Given the description of an element on the screen output the (x, y) to click on. 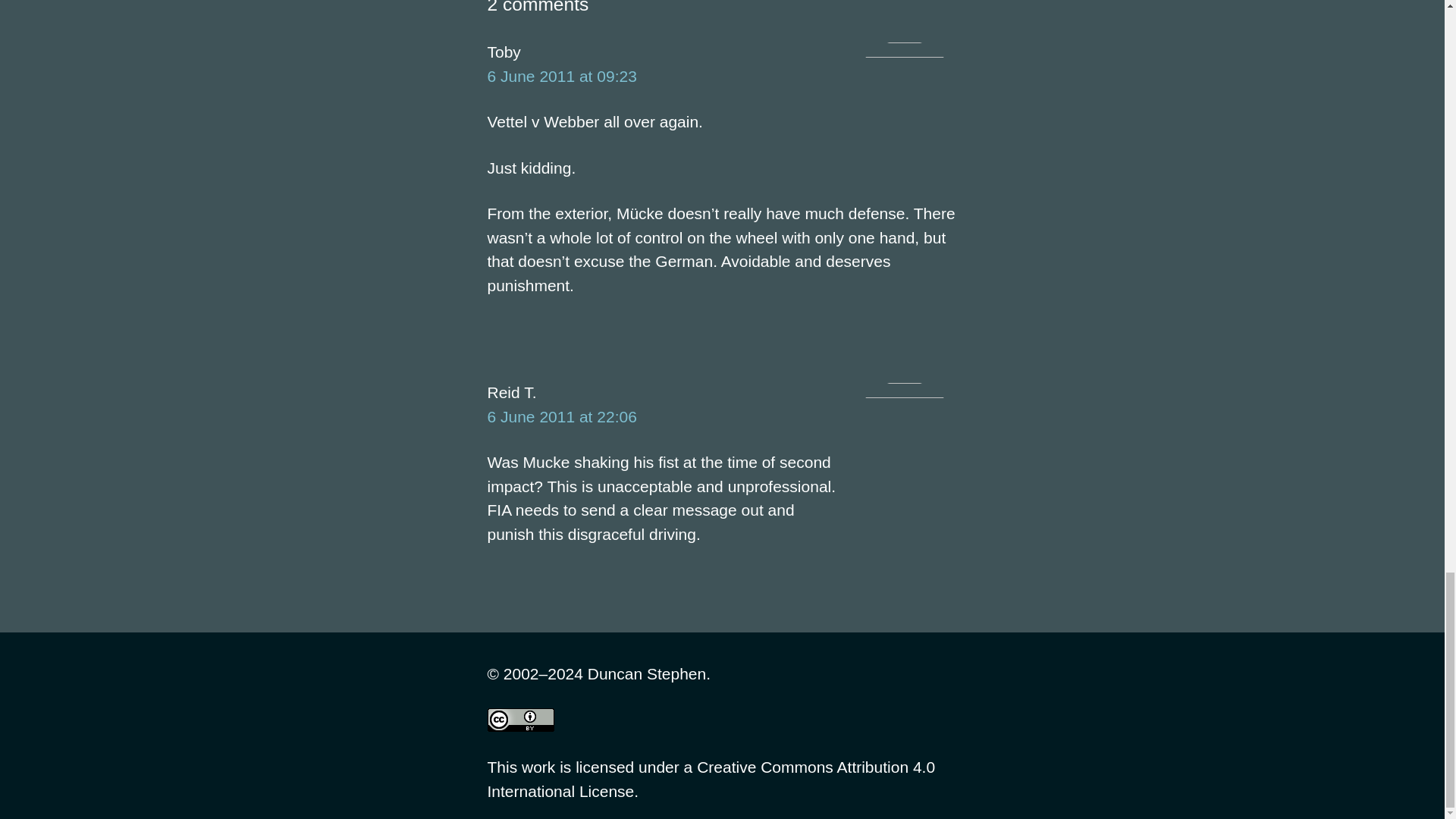
6 June 2011 at 09:23 (561, 76)
6 June 2011 at 22:06 (561, 416)
Creative Commons Attribution 4.0 International License (710, 779)
